Given the description of an element on the screen output the (x, y) to click on. 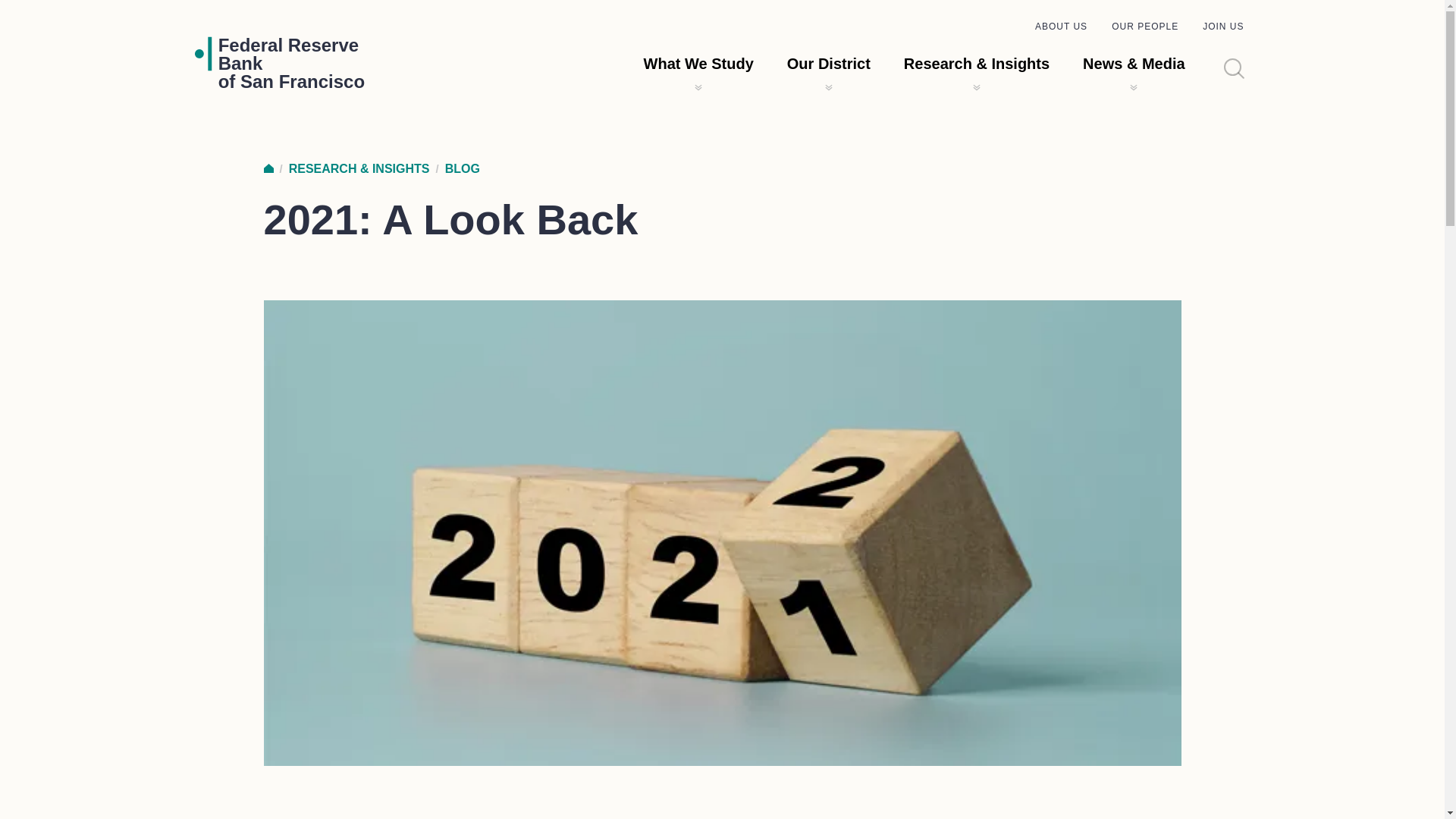
ABOUT US (1061, 26)
OUR PEOPLE (1144, 26)
What We Study (291, 63)
Our District (698, 63)
JOIN US (828, 63)
HOME (1222, 26)
